Given the description of an element on the screen output the (x, y) to click on. 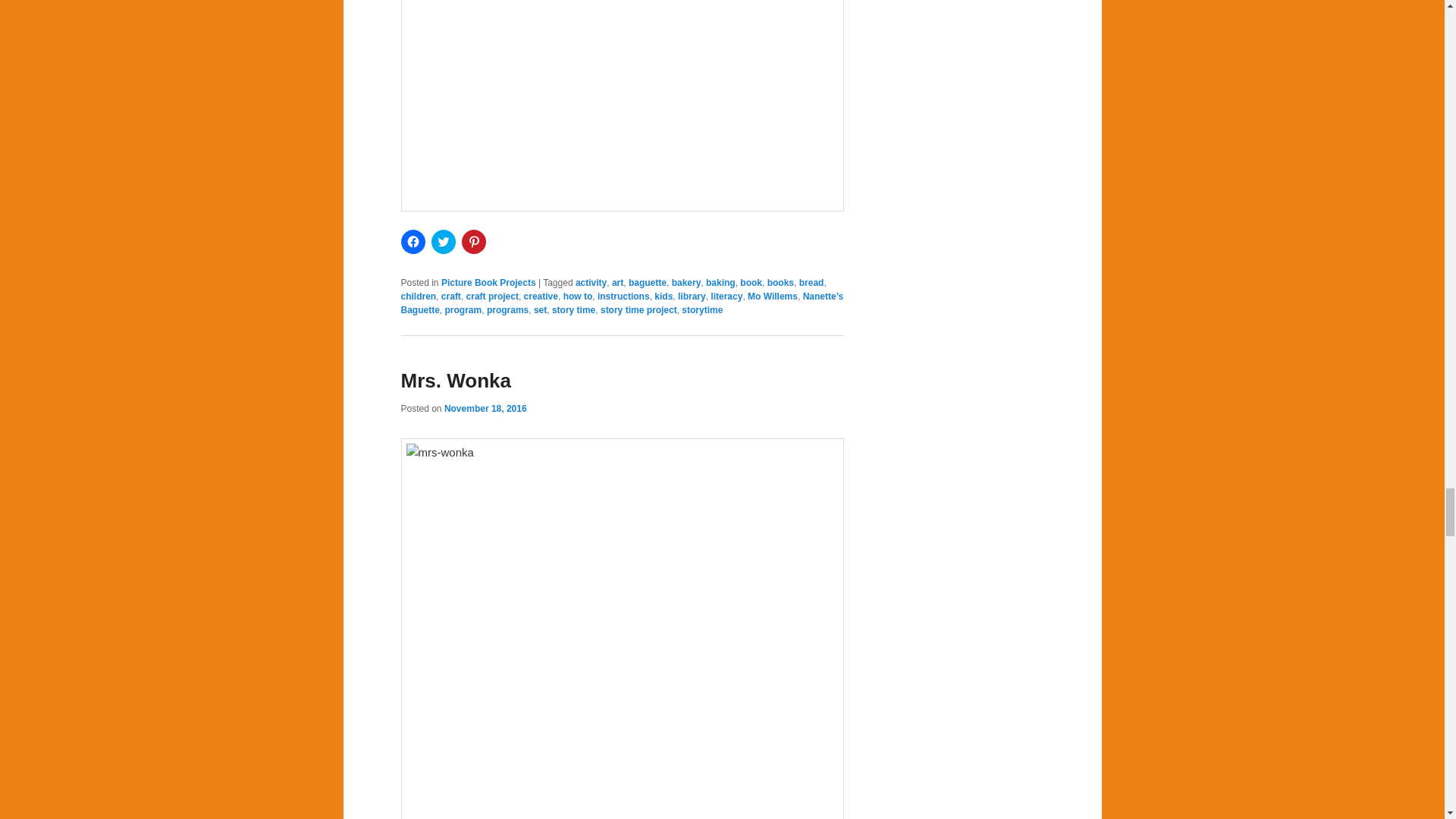
Click to share on Twitter (442, 241)
Click to share on Pinterest (472, 241)
Click to share on Facebook (412, 241)
